Given the description of an element on the screen output the (x, y) to click on. 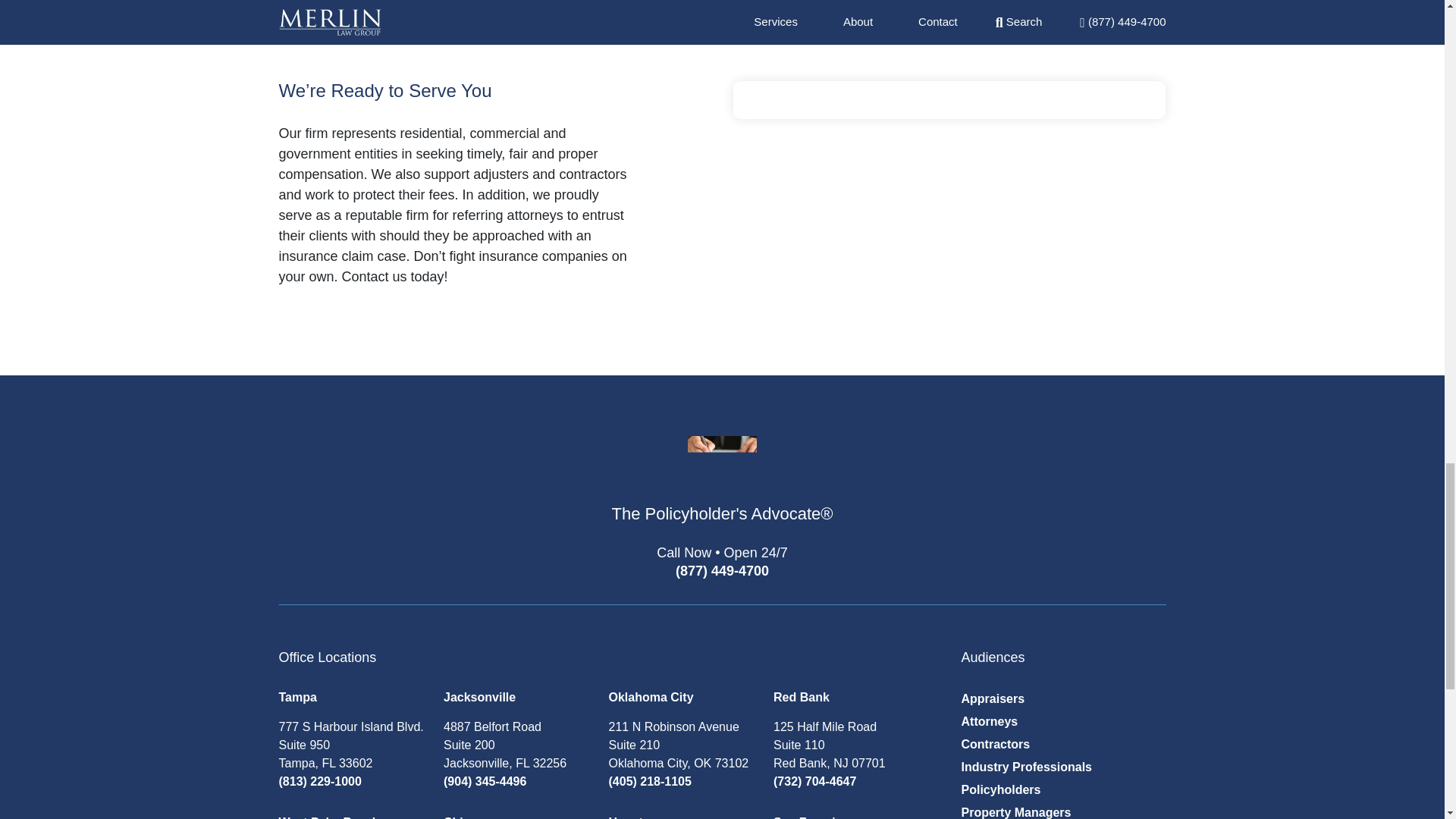
Property Insurance Coverage Law Blog (722, 469)
